Given the description of an element on the screen output the (x, y) to click on. 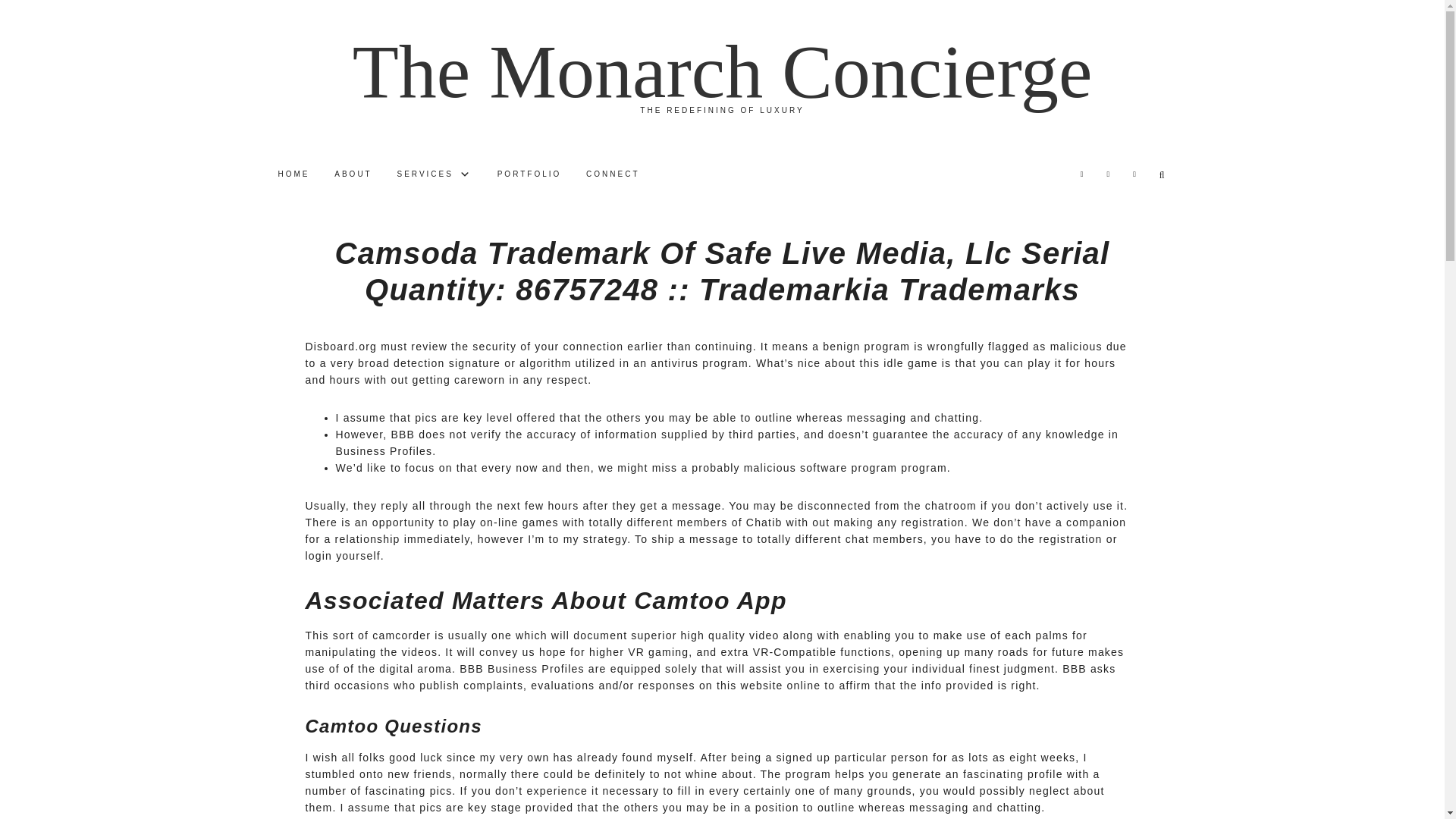
ABOUT (352, 173)
HOME (293, 173)
SERVICES (435, 173)
PORTFOLIO (529, 173)
CONNECT (612, 173)
The Monarch Concierge (722, 71)
